Given the description of an element on the screen output the (x, y) to click on. 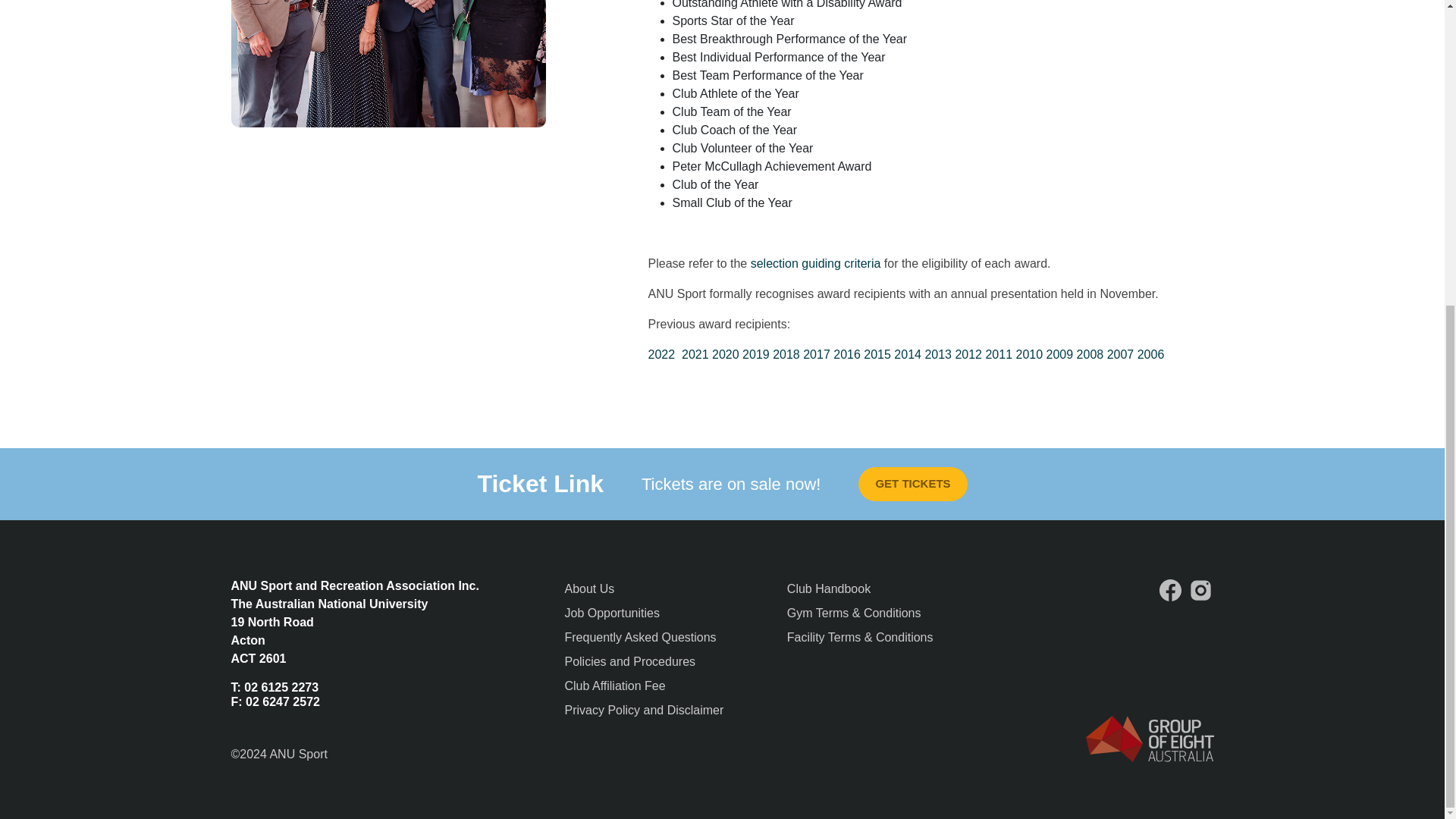
2018 (788, 354)
2021 (696, 354)
2014 (908, 354)
View our Instagram site (1201, 590)
02 6125 2273 (281, 686)
GET TICKETS (912, 483)
selection guiding criteria (815, 263)
2013 (939, 354)
2022   (664, 354)
Learn more about the Group of Eight (1150, 738)
